Given the description of an element on the screen output the (x, y) to click on. 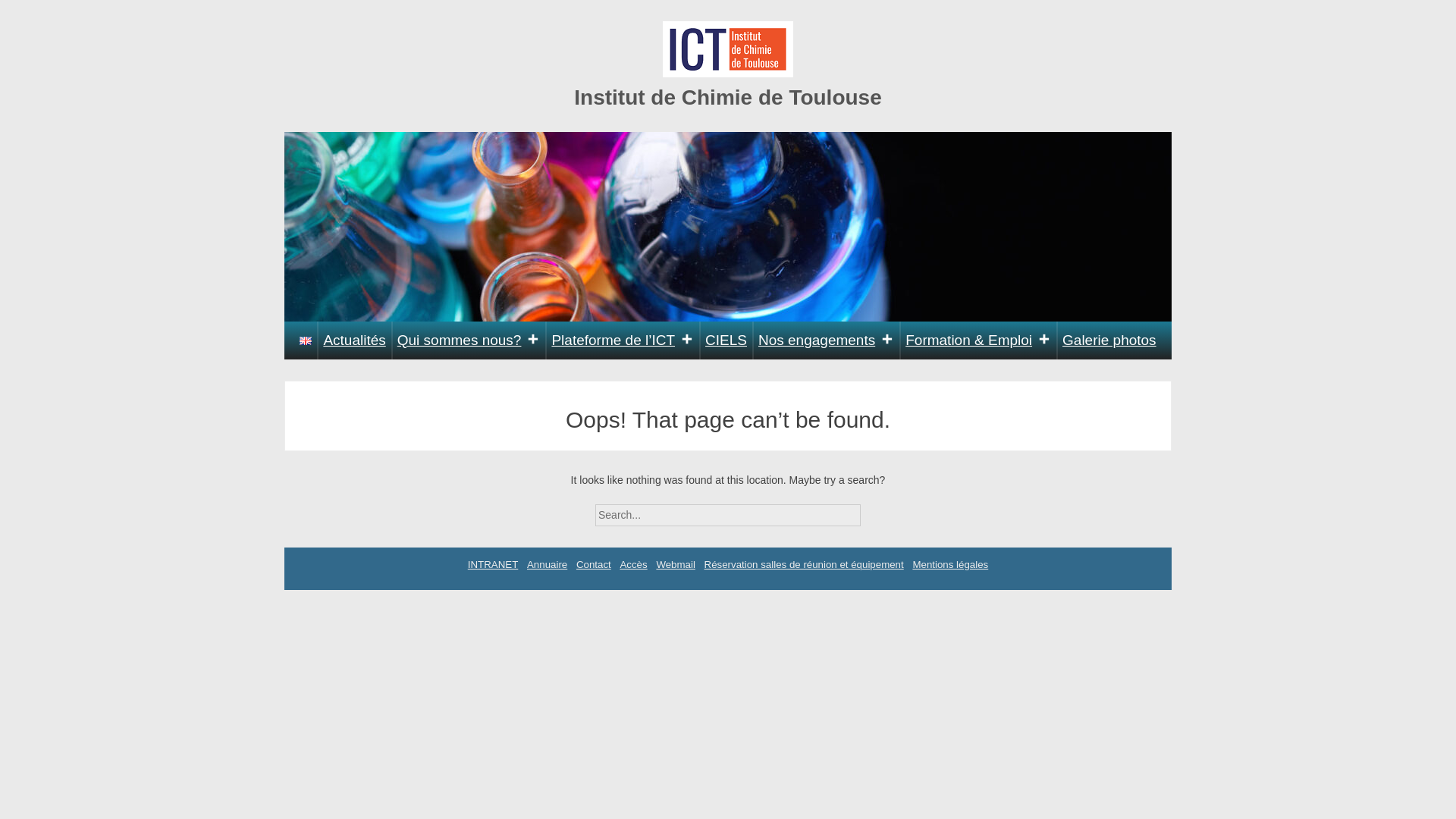
Search (873, 509)
Nos engagements (825, 340)
Qui sommes nous? (468, 340)
Institut de Chimie de Toulouse (727, 97)
Search (873, 509)
CIELS (726, 340)
